Given the description of an element on the screen output the (x, y) to click on. 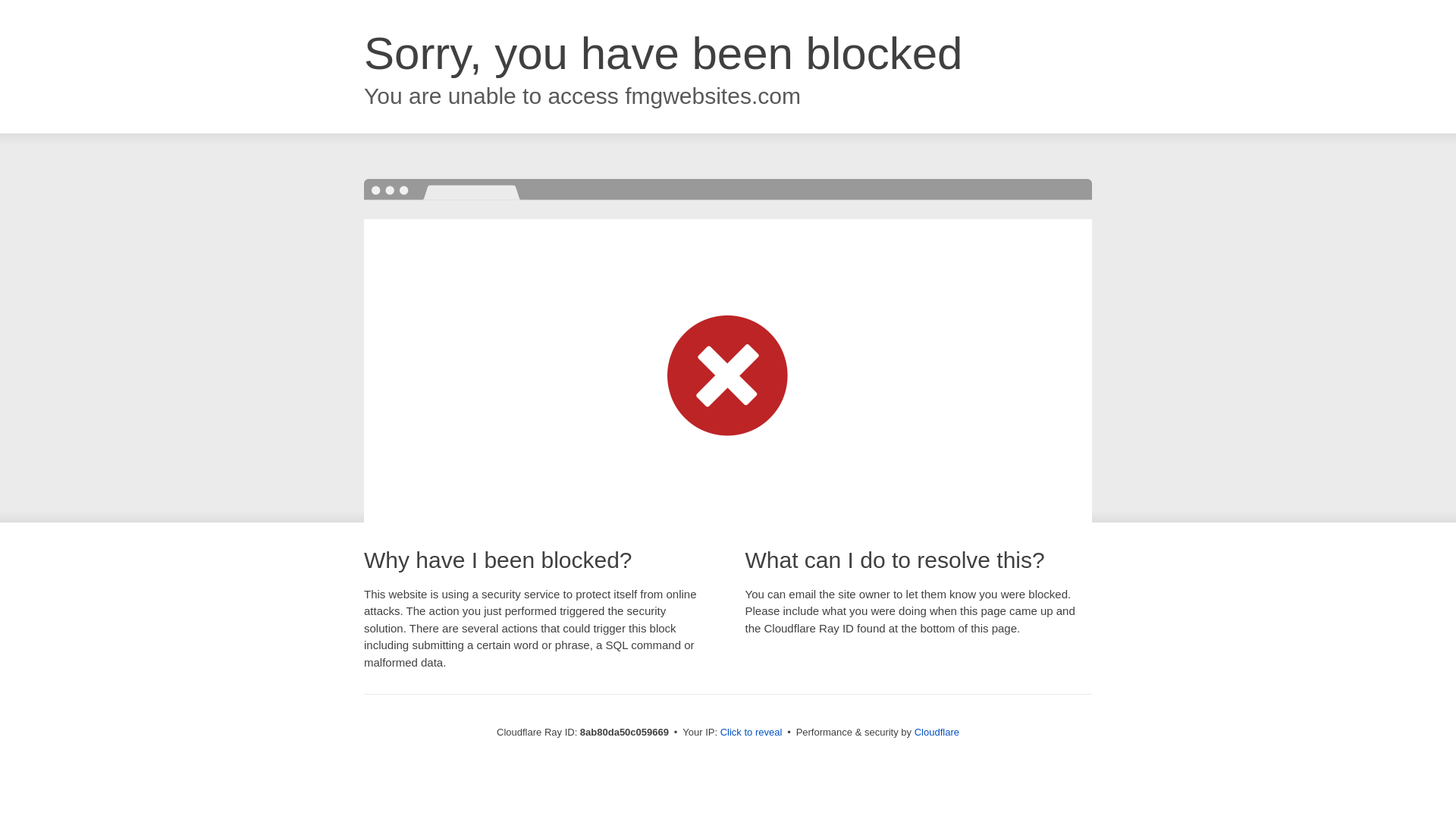
Cloudflare (936, 731)
Click to reveal (751, 732)
